Given the description of an element on the screen output the (x, y) to click on. 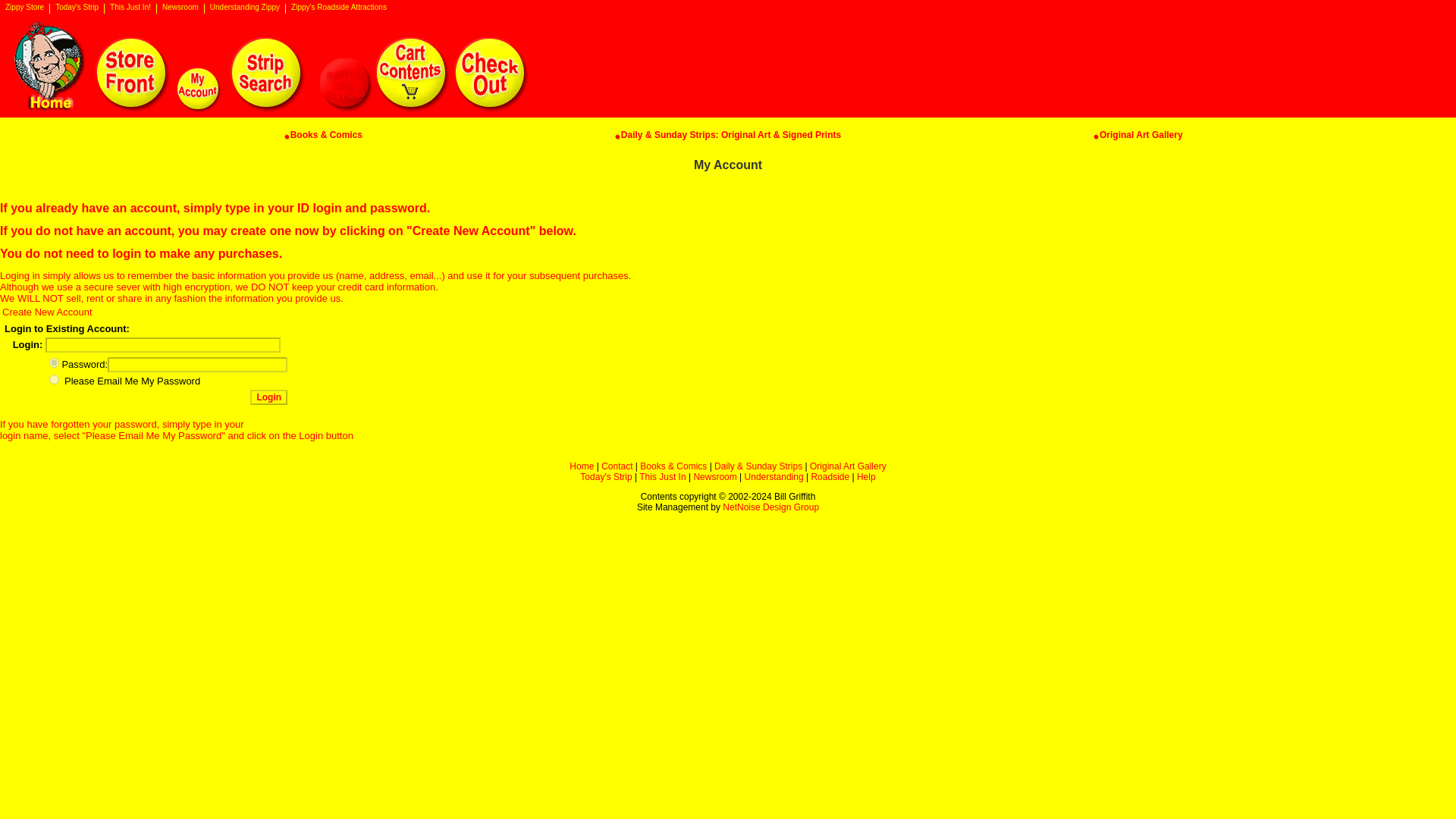
This Just In! (130, 8)
Zippy Store (24, 8)
Login (268, 396)
Today's Strip (76, 8)
EMPW (54, 379)
Understanding Zippy (245, 8)
LOGN (54, 362)
Newsroom (181, 8)
